Given the description of an element on the screen output the (x, y) to click on. 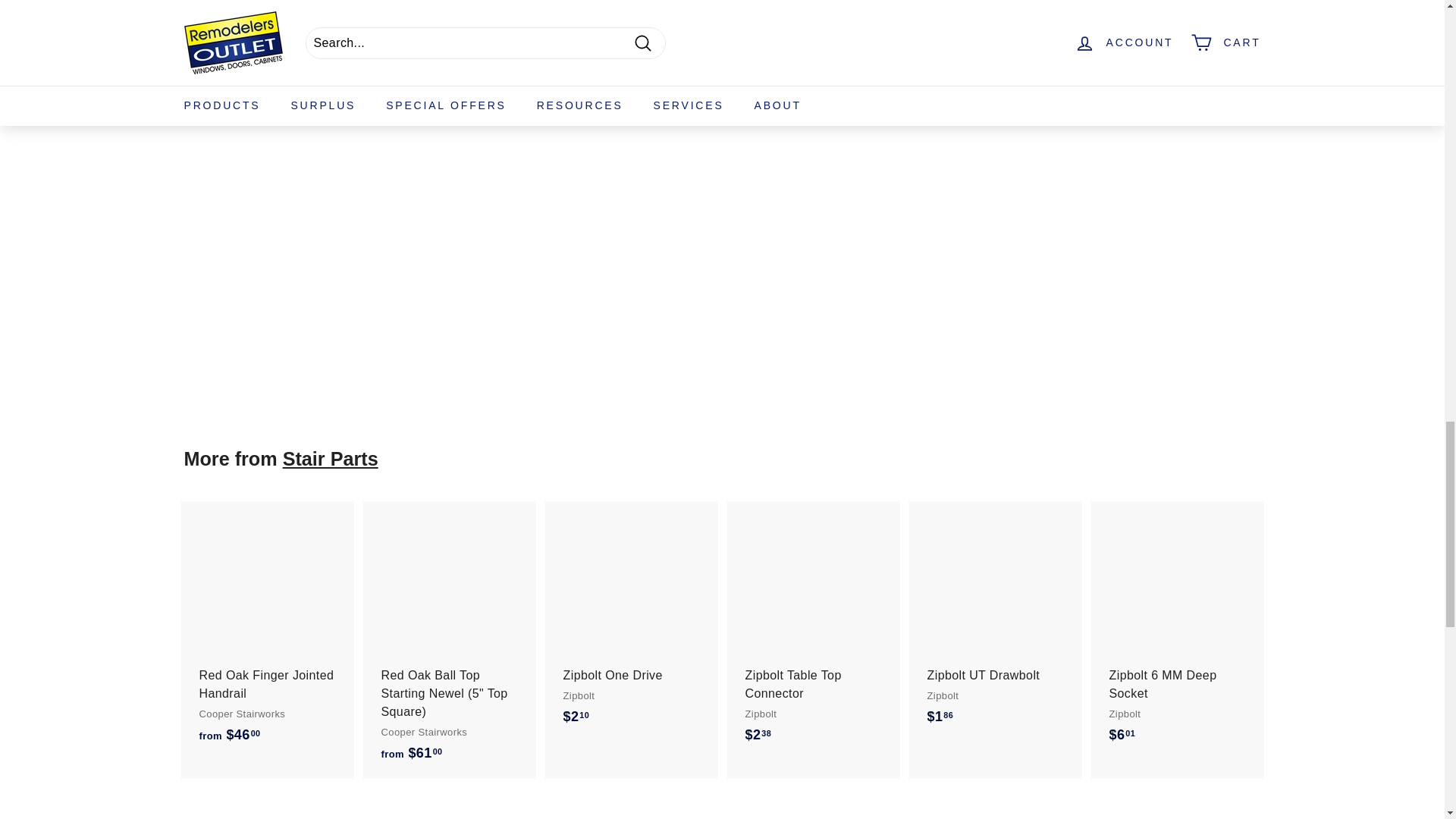
Cooper Stairworks (367, 86)
